Given the description of an element on the screen output the (x, y) to click on. 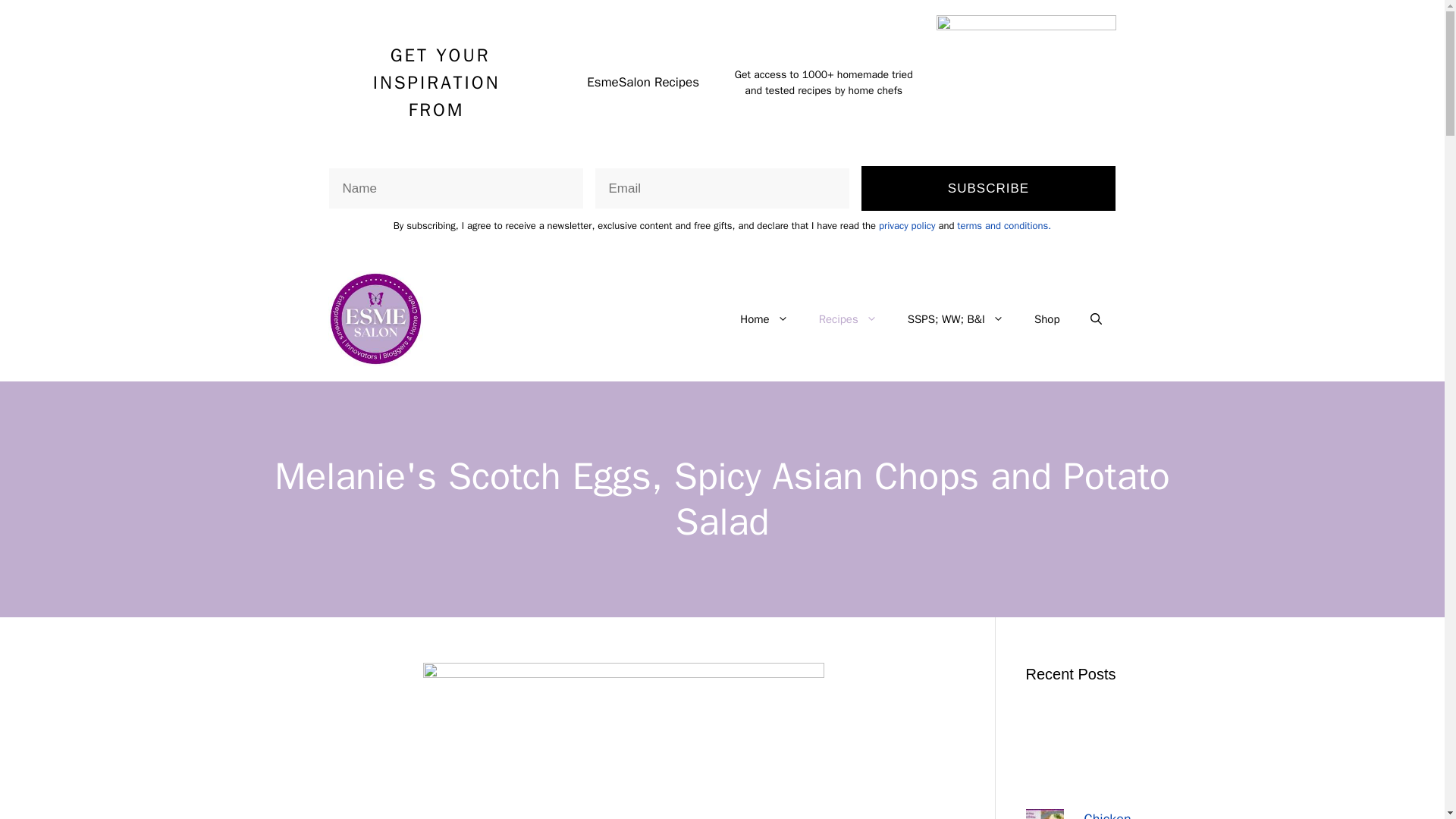
SUBSCRIBE (988, 188)
Recipes (847, 319)
terms and conditions. (1003, 225)
Home (764, 319)
privacy policy (907, 225)
esmesalonTVscreen (1026, 82)
